Given the description of an element on the screen output the (x, y) to click on. 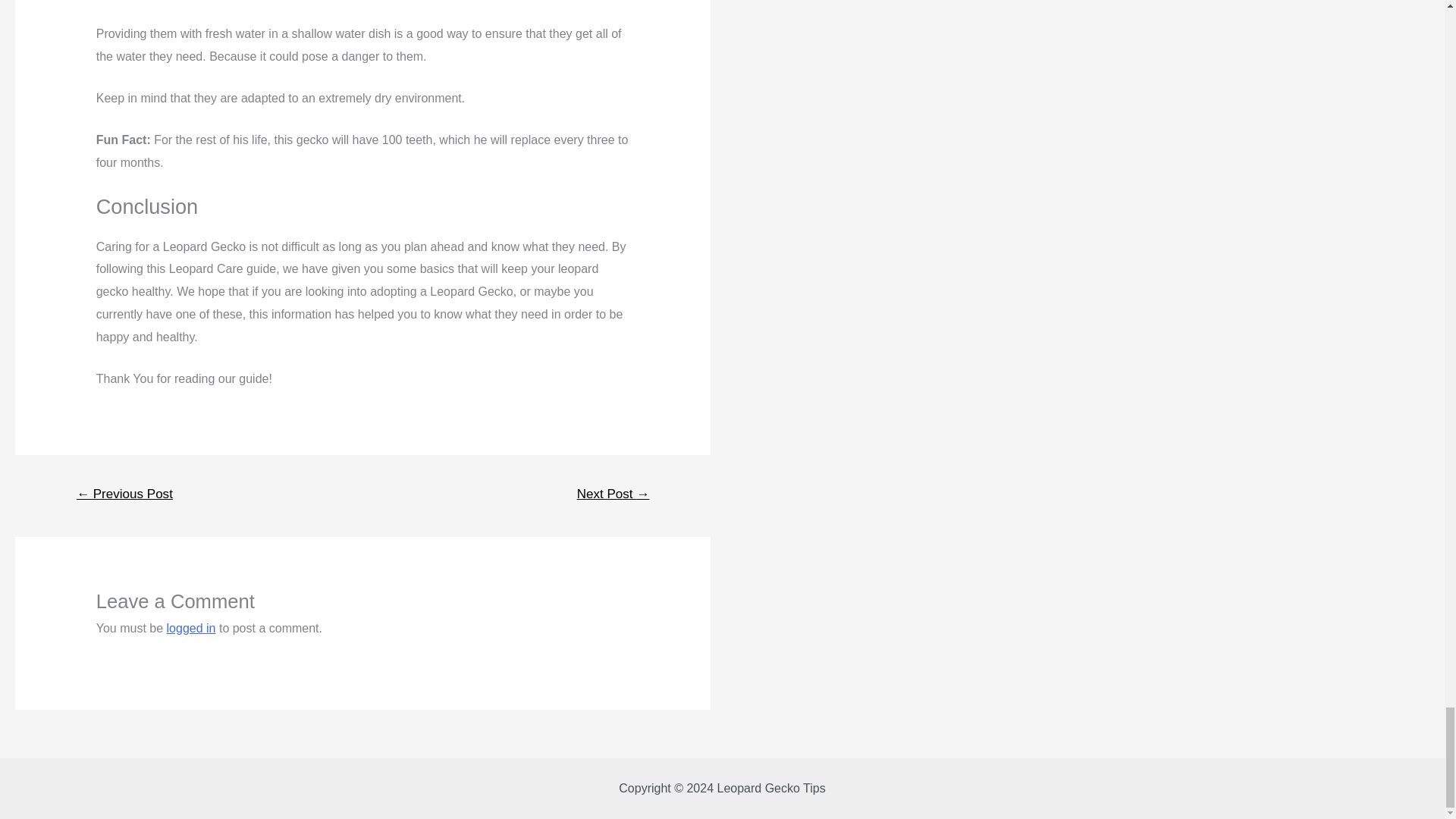
logged in (191, 627)
